Given the description of an element on the screen output the (x, y) to click on. 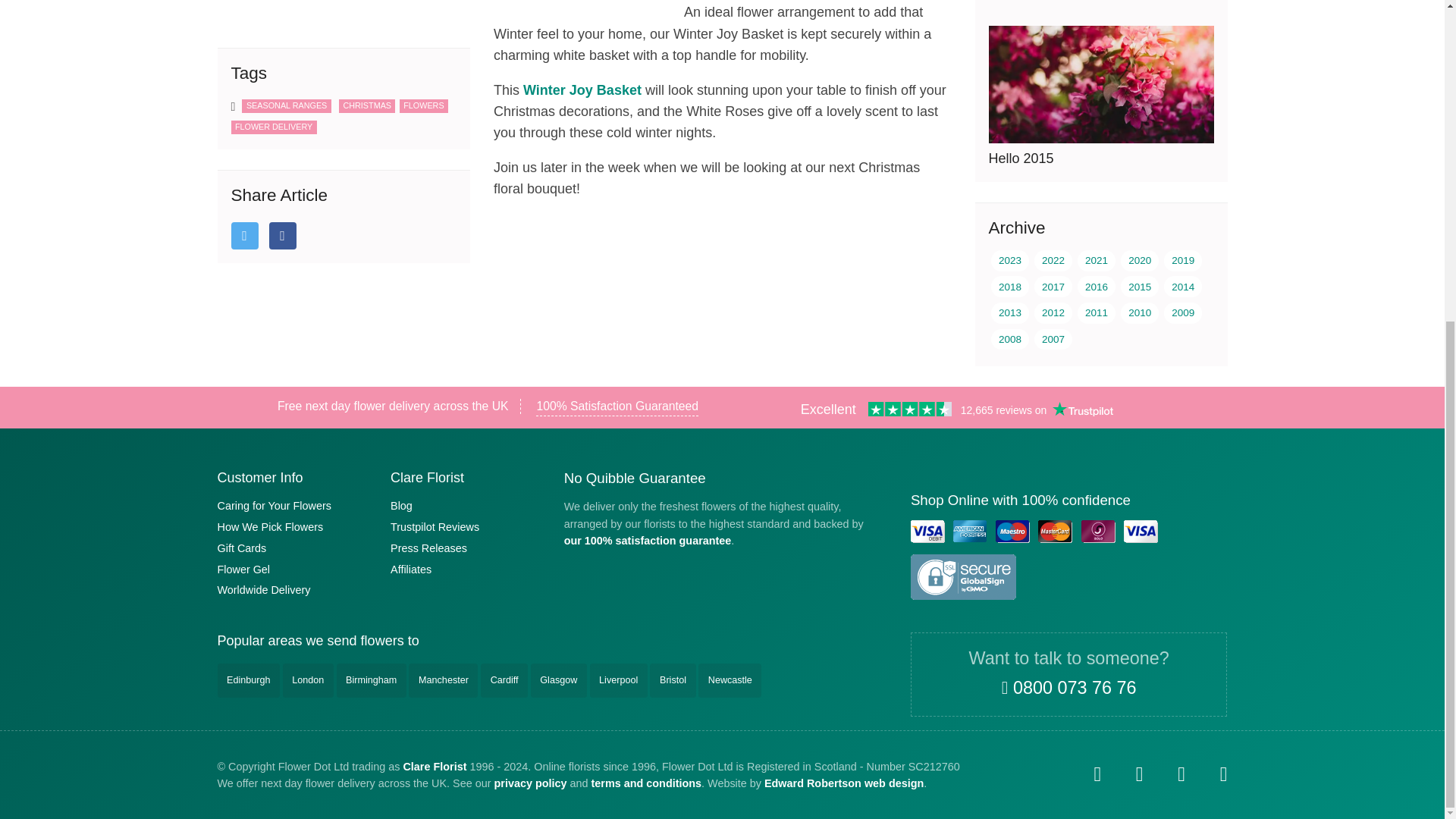
Send flowers to (343, 640)
Show posts from 2008 (1010, 339)
Show posts from 2017 (1052, 286)
Show posts from 2020 (1139, 260)
Show posts from 2021 (1096, 260)
Show posts from 2012 (1052, 312)
Show posts from 2018 (1010, 286)
Show posts from 2022 (1052, 260)
Show posts from 2023 (1010, 260)
Show posts from 2007 (1052, 339)
Show posts from 2019 (1182, 260)
Show posts from 2014 (1182, 286)
Show posts from 2015 (1139, 286)
Show posts from 2010 (1139, 312)
Show posts from 2013 (1010, 312)
